Given the description of an element on the screen output the (x, y) to click on. 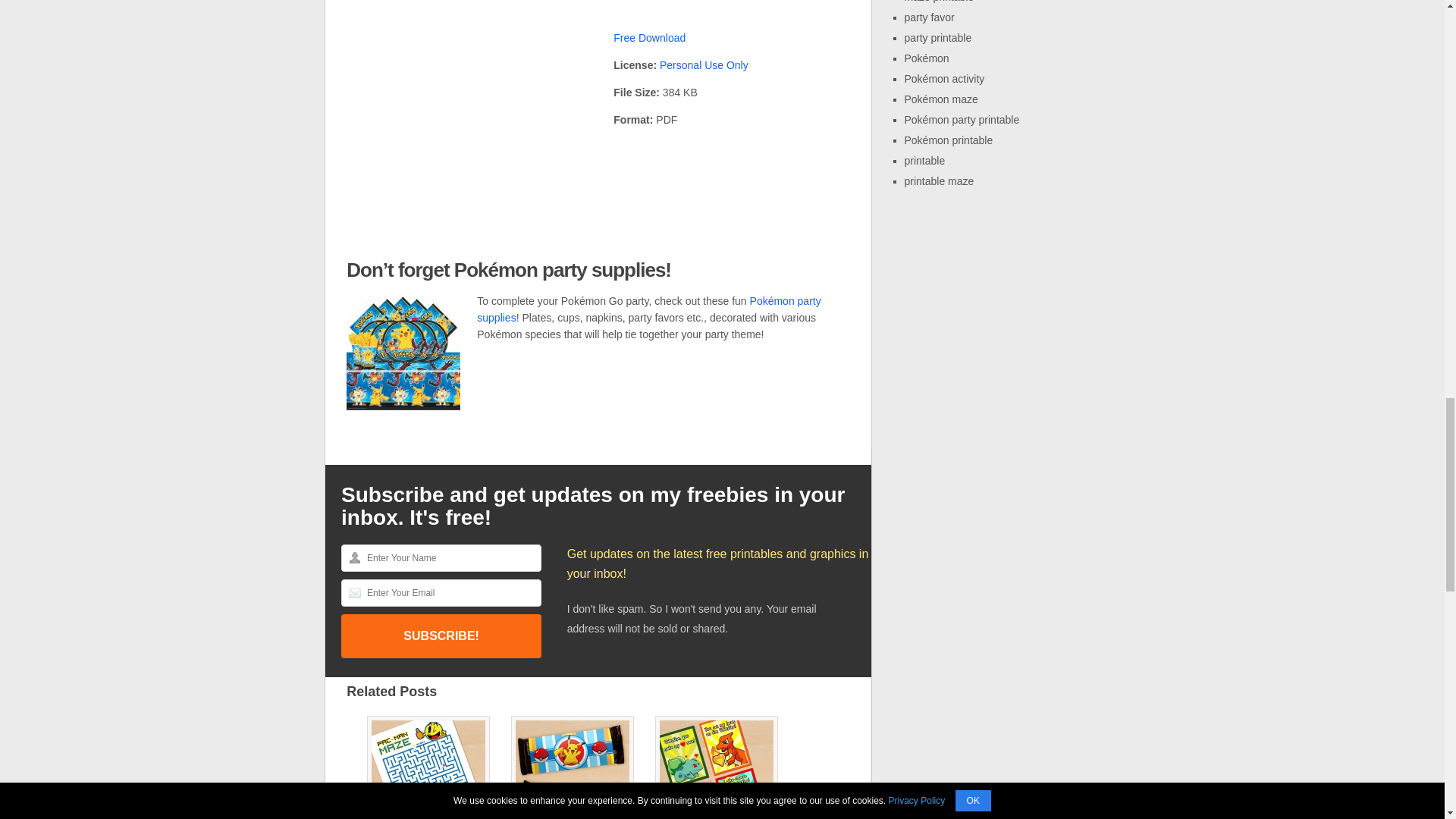
SUBSCRIBE! (440, 636)
Free Download (648, 37)
Personal Use Only (703, 64)
SUBSCRIBE! (440, 636)
